Given the description of an element on the screen output the (x, y) to click on. 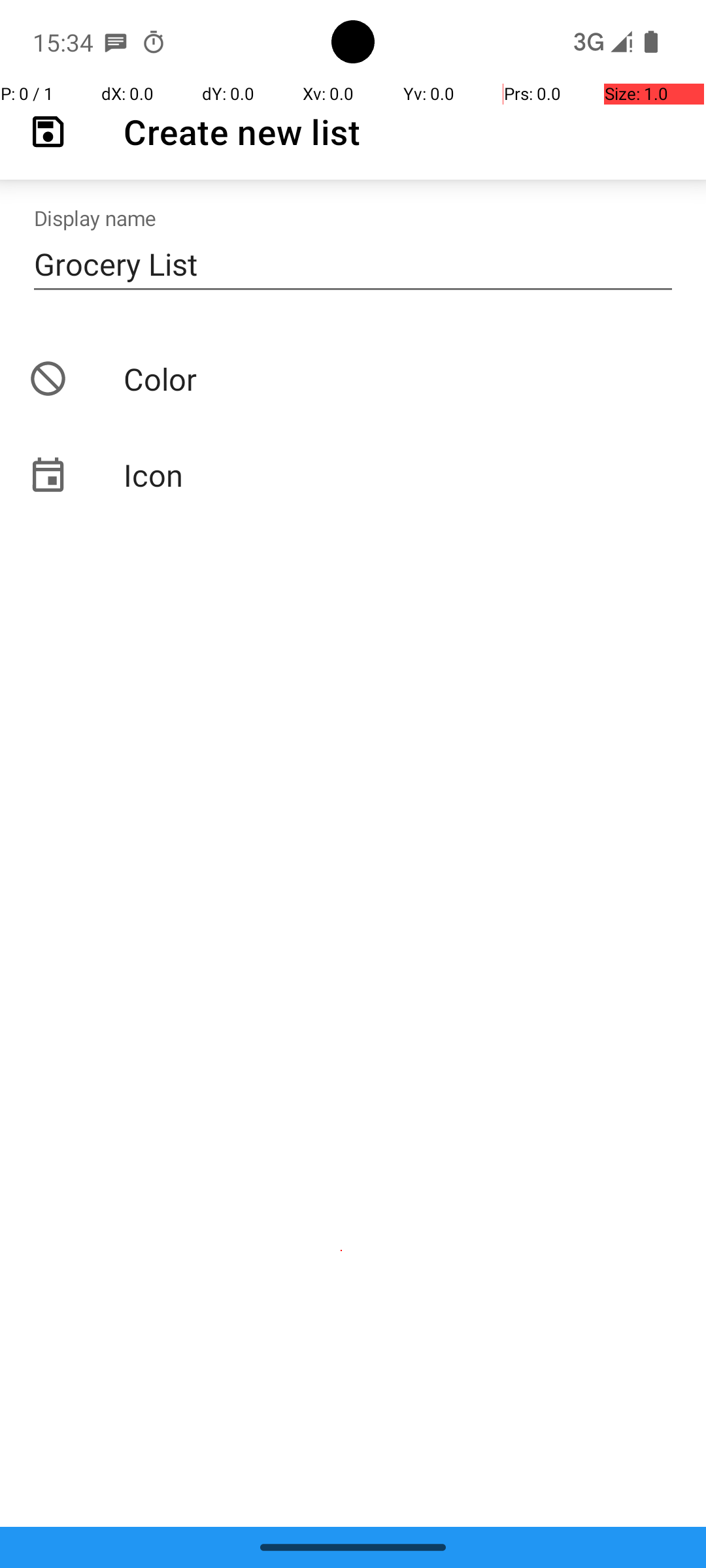
Create new list Element type: android.widget.TextView (241, 131)
Icon Element type: android.widget.TextView (352, 474)
